Given the description of an element on the screen output the (x, y) to click on. 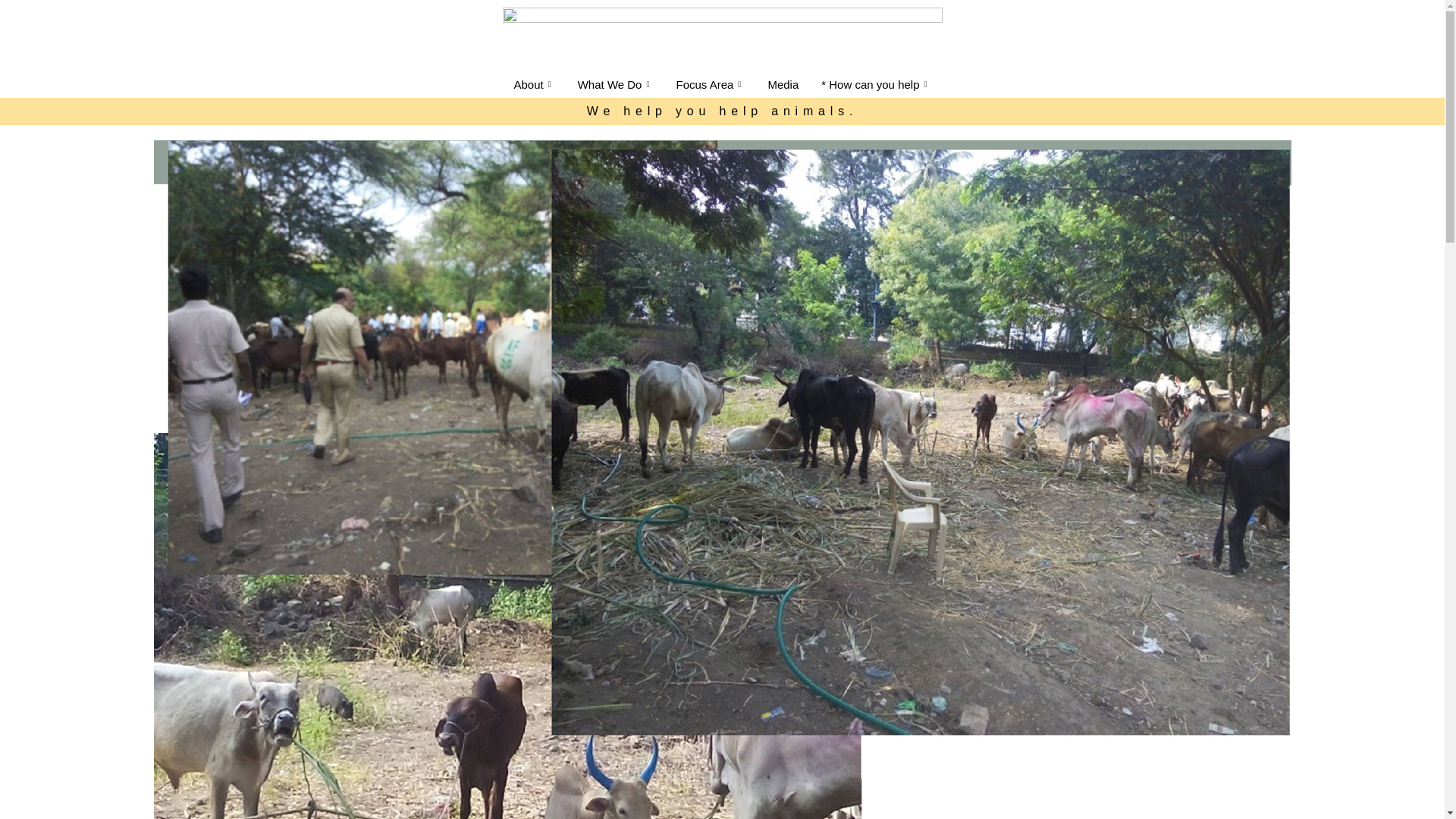
About (534, 85)
What We Do (615, 85)
Focus Area (709, 85)
Media (782, 85)
